Given the description of an element on the screen output the (x, y) to click on. 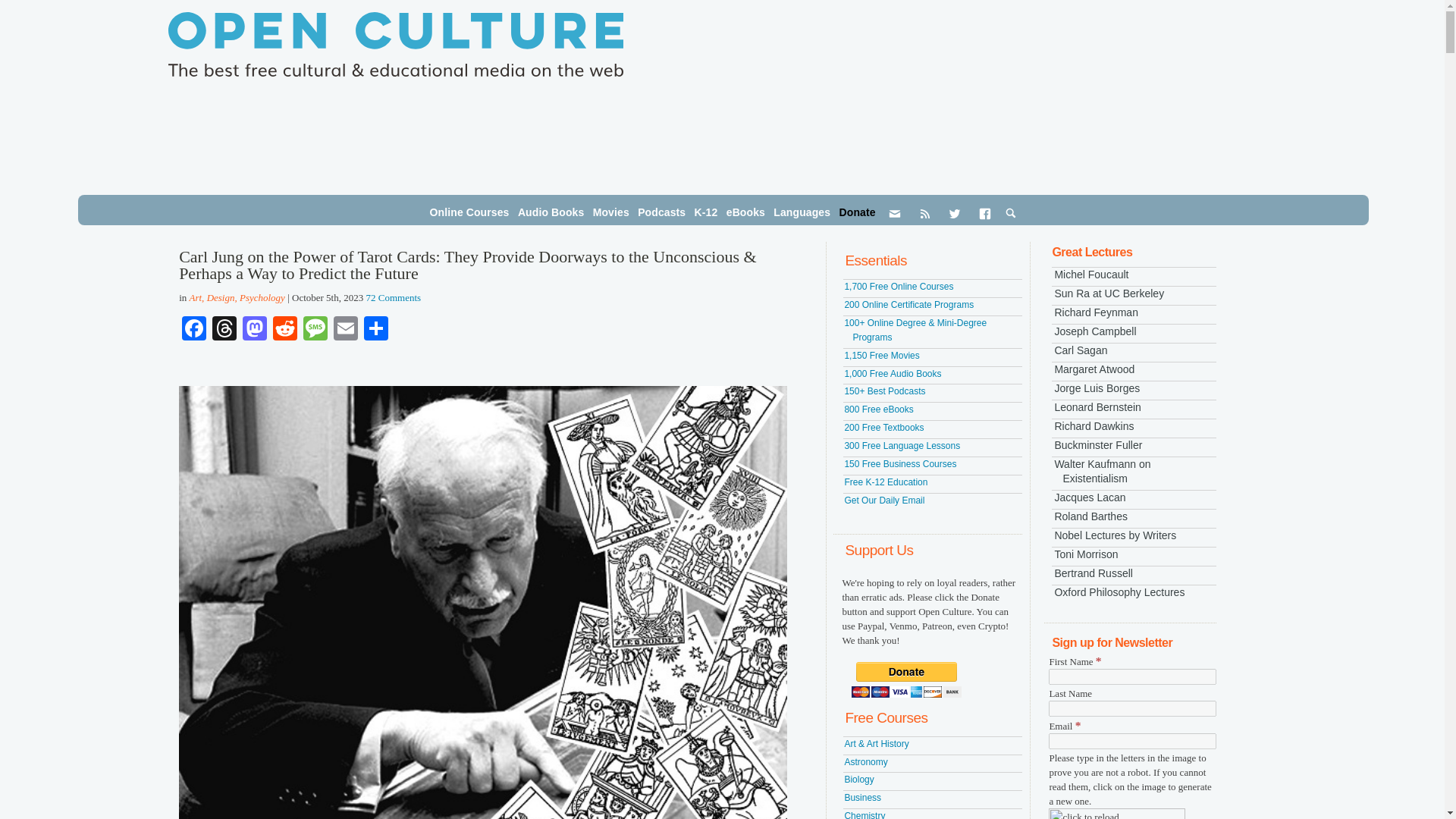
Message (314, 329)
Facebook (194, 329)
Podcasts (661, 211)
Languages (801, 211)
Mastodon (254, 329)
Online Courses (469, 211)
eBooks (745, 211)
Audio Books (550, 211)
Email (345, 329)
K-12 (705, 211)
Threads (224, 329)
72 Comments (392, 297)
Reddit (284, 329)
Psychology (262, 297)
Share (376, 329)
